Given the description of an element on the screen output the (x, y) to click on. 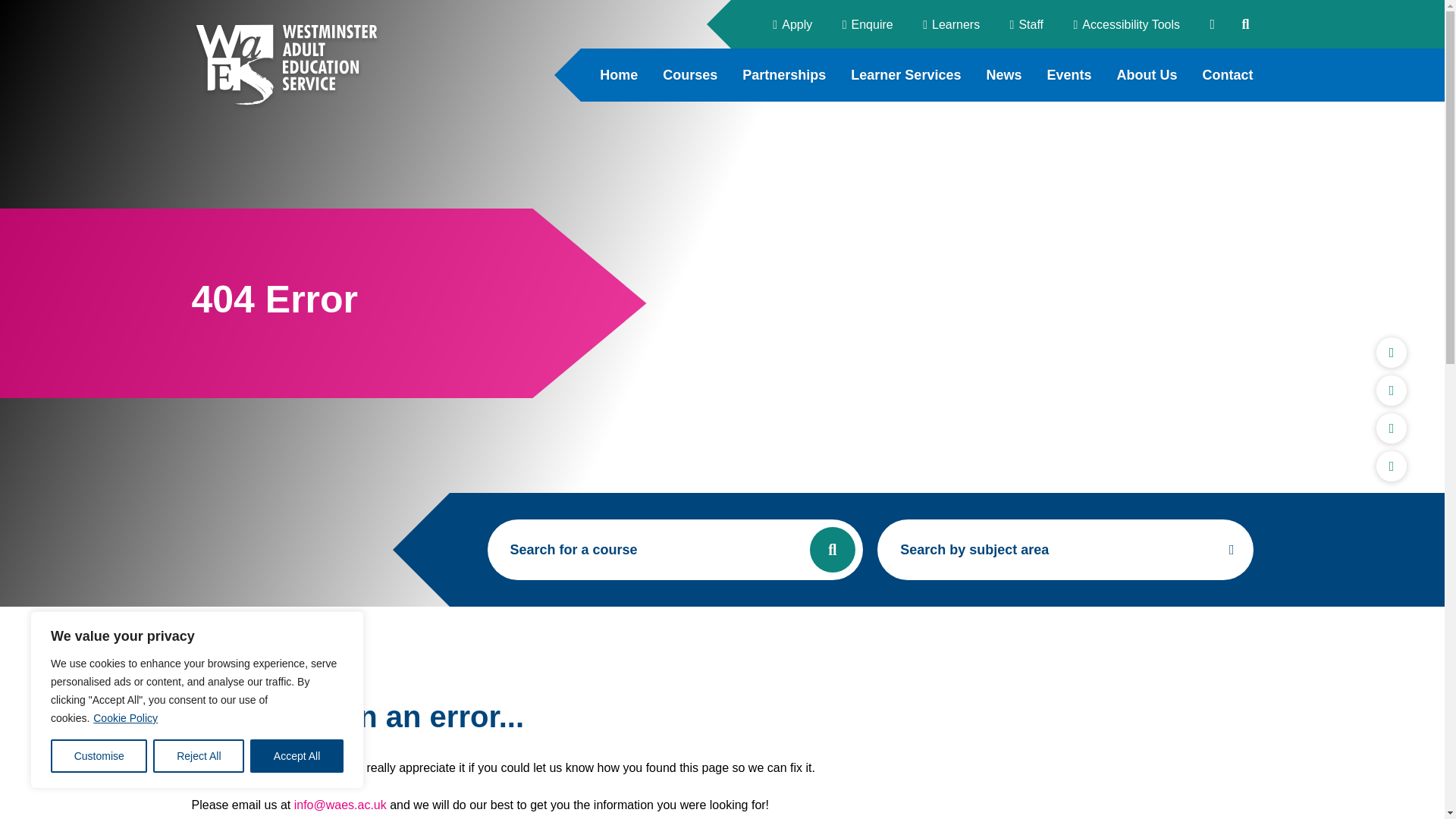
Open site search (1244, 24)
Cookie Policy (125, 717)
Opens site search (1244, 24)
Customise (98, 756)
Accessibility Tools (1126, 24)
Staff (1027, 24)
Apply (792, 24)
Accept All (296, 756)
Learners (951, 24)
Home (618, 74)
Reject All (198, 756)
Enquire (867, 24)
Courses (690, 74)
